Given the description of an element on the screen output the (x, y) to click on. 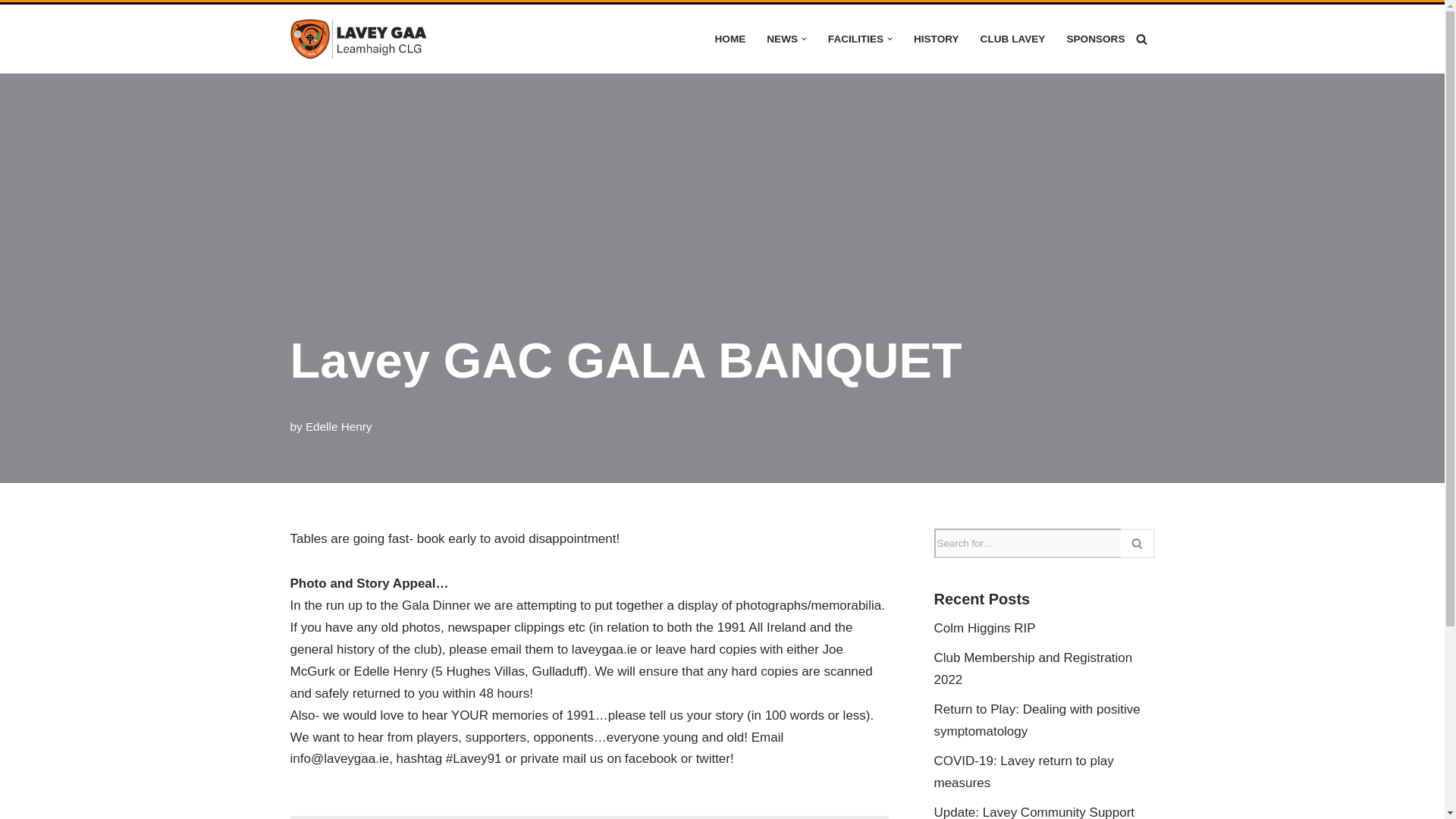
Edelle Henry (338, 426)
Skip to content (11, 36)
FACILITIES (855, 38)
Posts by Edelle Henry (338, 426)
HOME (729, 38)
HISTORY (936, 38)
SPONSORS (1094, 38)
CLUB LAVEY (1012, 38)
NEWS (782, 38)
